Given the description of an element on the screen output the (x, y) to click on. 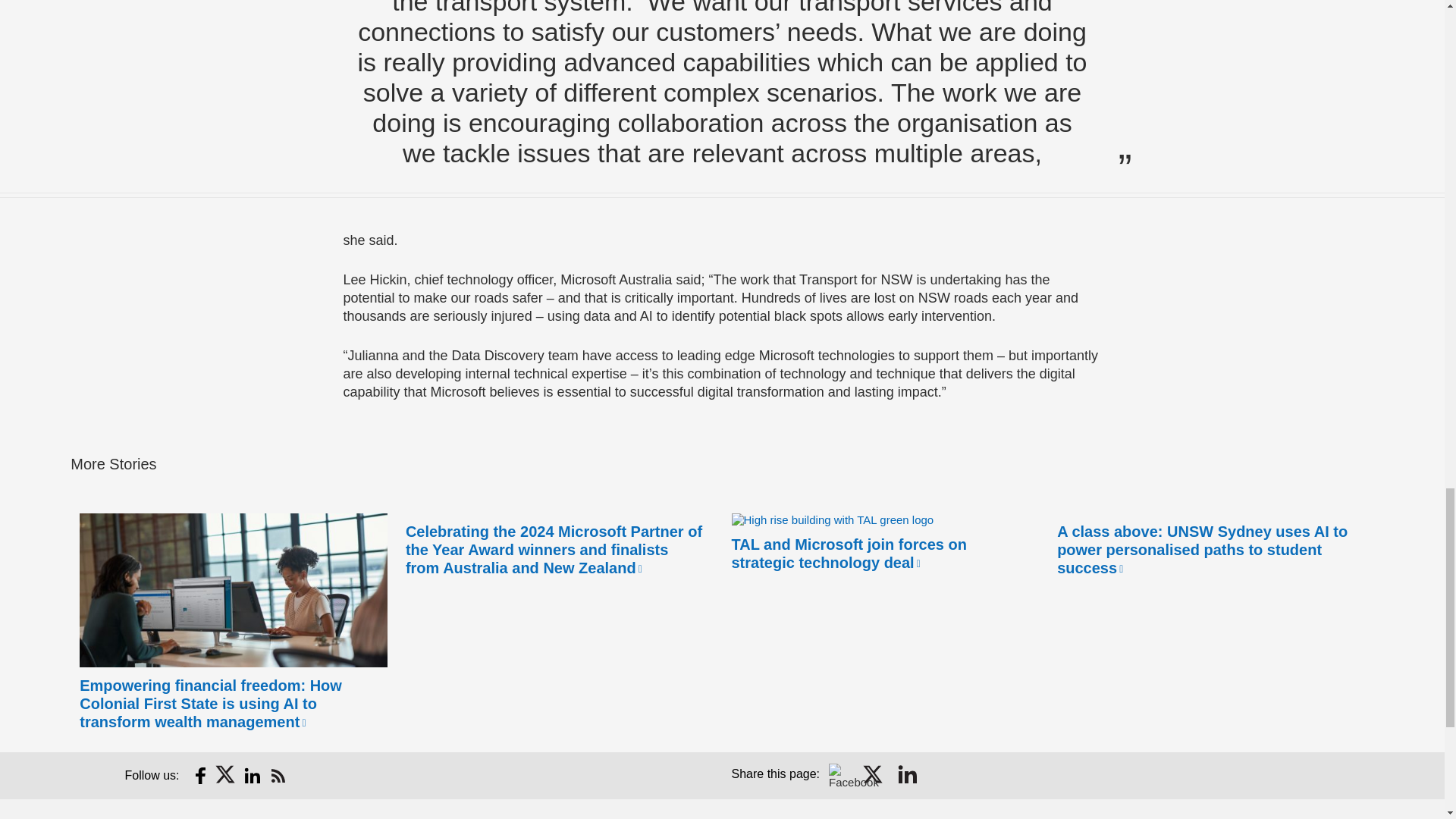
Follow on LinkedIn (252, 775)
Share on Facebook (840, 775)
Share on Twitter (873, 775)
Follow on Facebook (200, 775)
RSS Subscription (277, 775)
Follow on Twitter (226, 775)
Share on LinkedIn (907, 775)
